Given the description of an element on the screen output the (x, y) to click on. 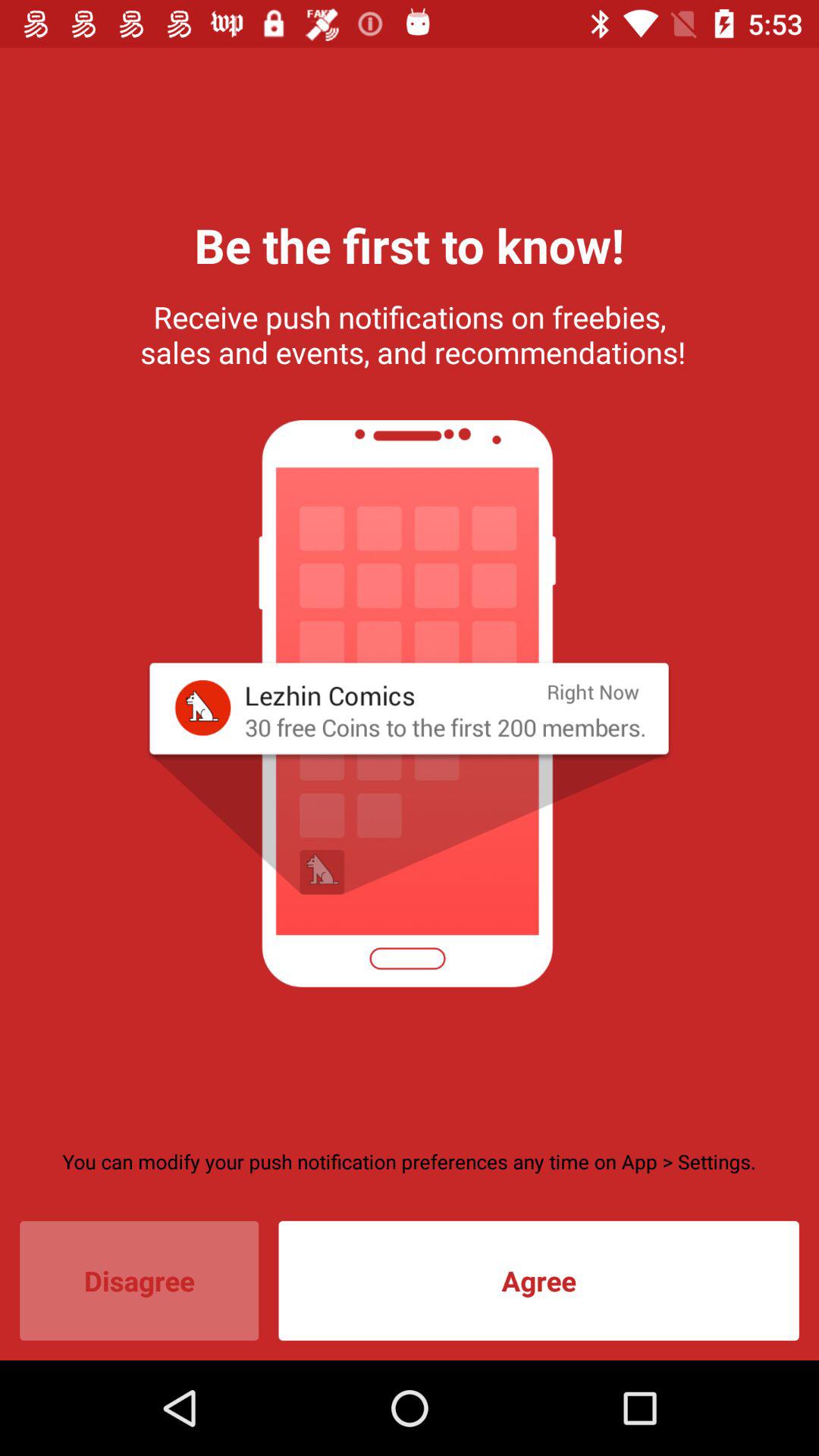
choose icon to the left of agree (138, 1280)
